Given the description of an element on the screen output the (x, y) to click on. 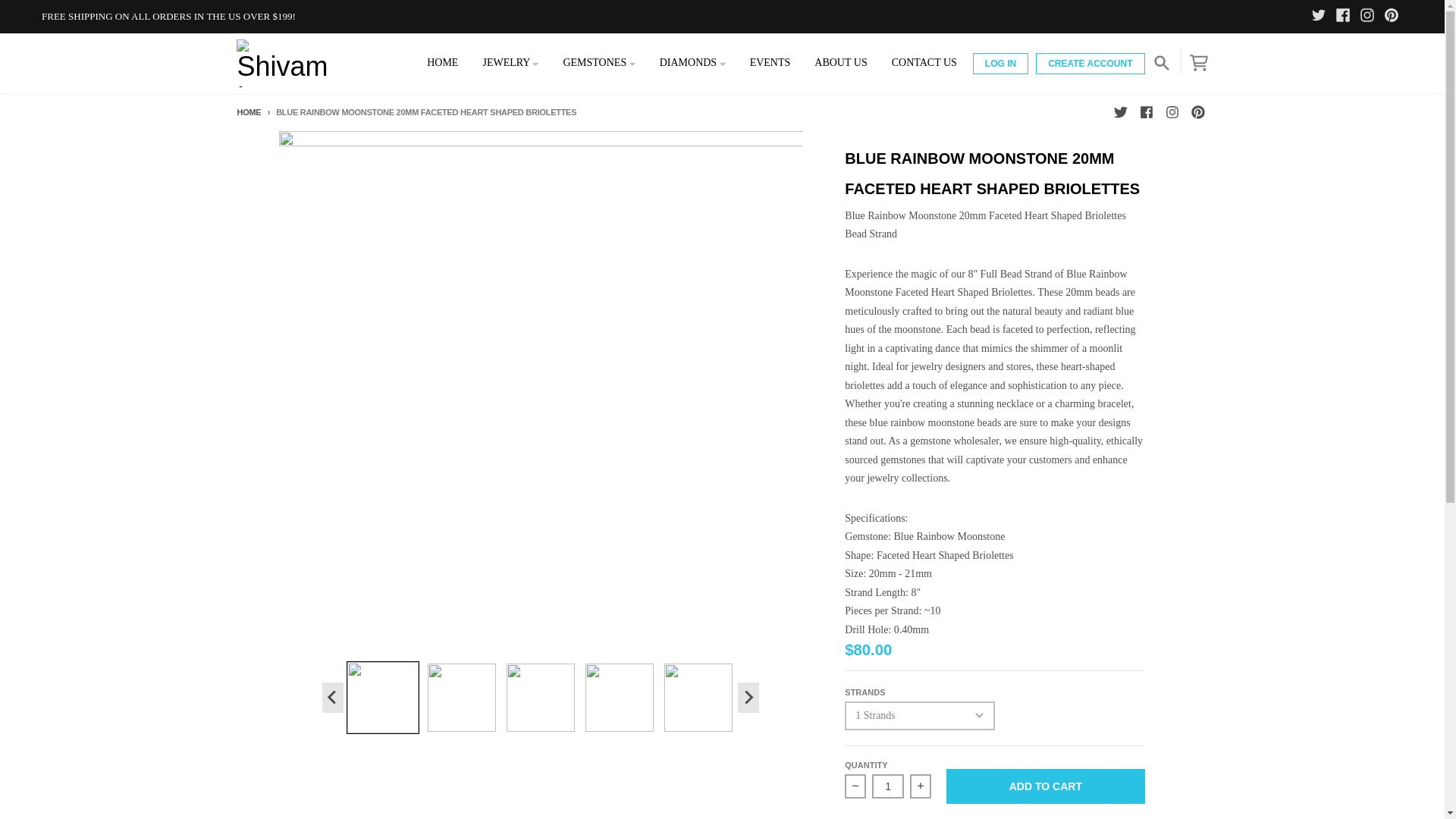
HOME (442, 62)
Instagram - Shivam Imports (1368, 16)
Facebook - Shivam Imports (1345, 16)
1 (888, 785)
Facebook - Shivam Imports (1145, 112)
Twitter - Shivam Imports (1320, 16)
Pinterest - Shivam Imports (1197, 112)
Pinterest - Shivam Imports (1393, 16)
Twitter - Shivam Imports (1119, 112)
Back to the homepage (247, 112)
Instagram - Shivam Imports (1170, 112)
